Given the description of an element on the screen output the (x, y) to click on. 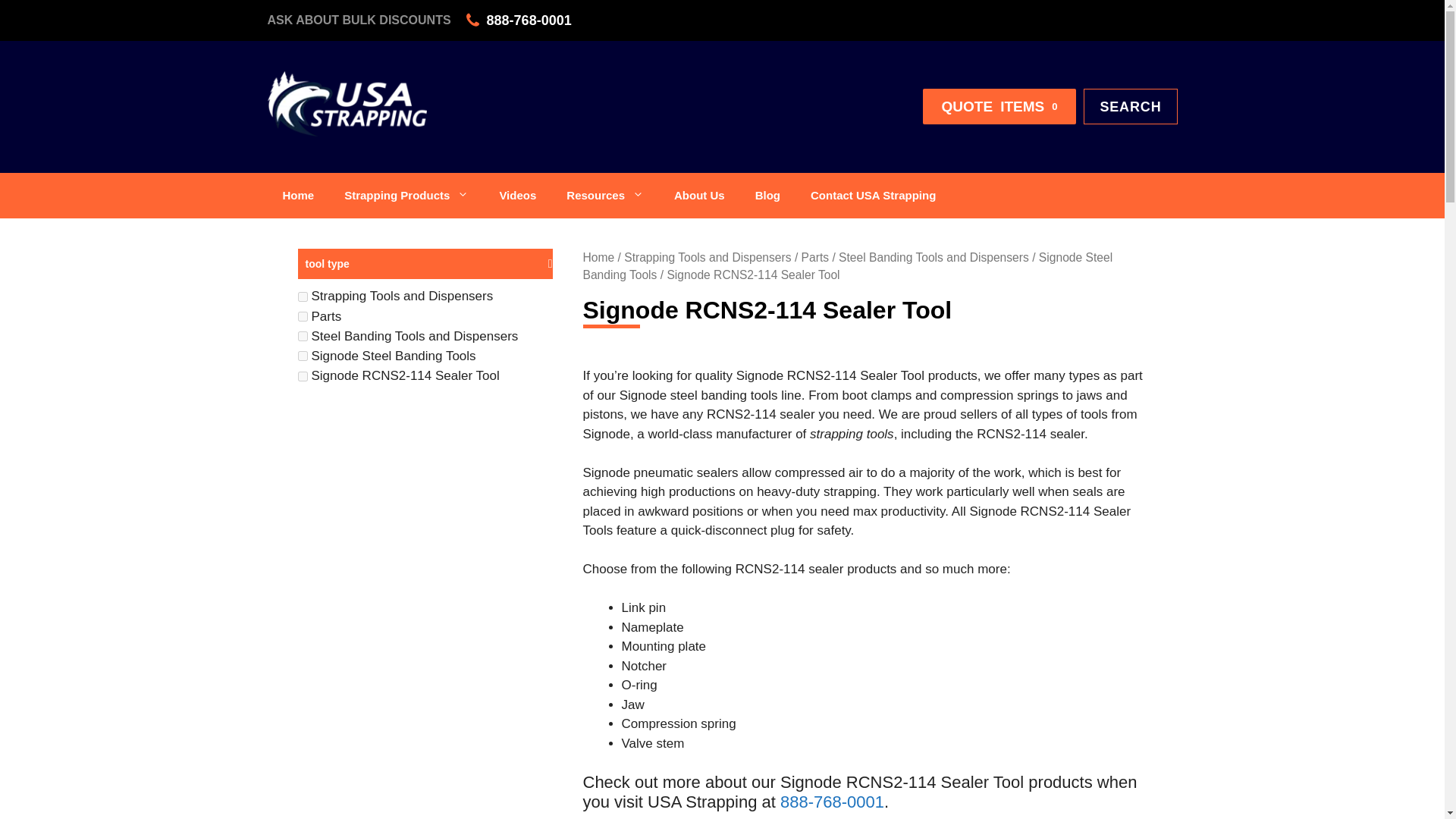
Strapping Products (406, 195)
1097 (302, 336)
Resources (605, 195)
888-768-0001 (529, 19)
1208 (302, 376)
629 (302, 296)
SEARCH (1129, 106)
Videos (517, 195)
Home (297, 195)
1098 (302, 356)
1096 (1000, 106)
